Given the description of an element on the screen output the (x, y) to click on. 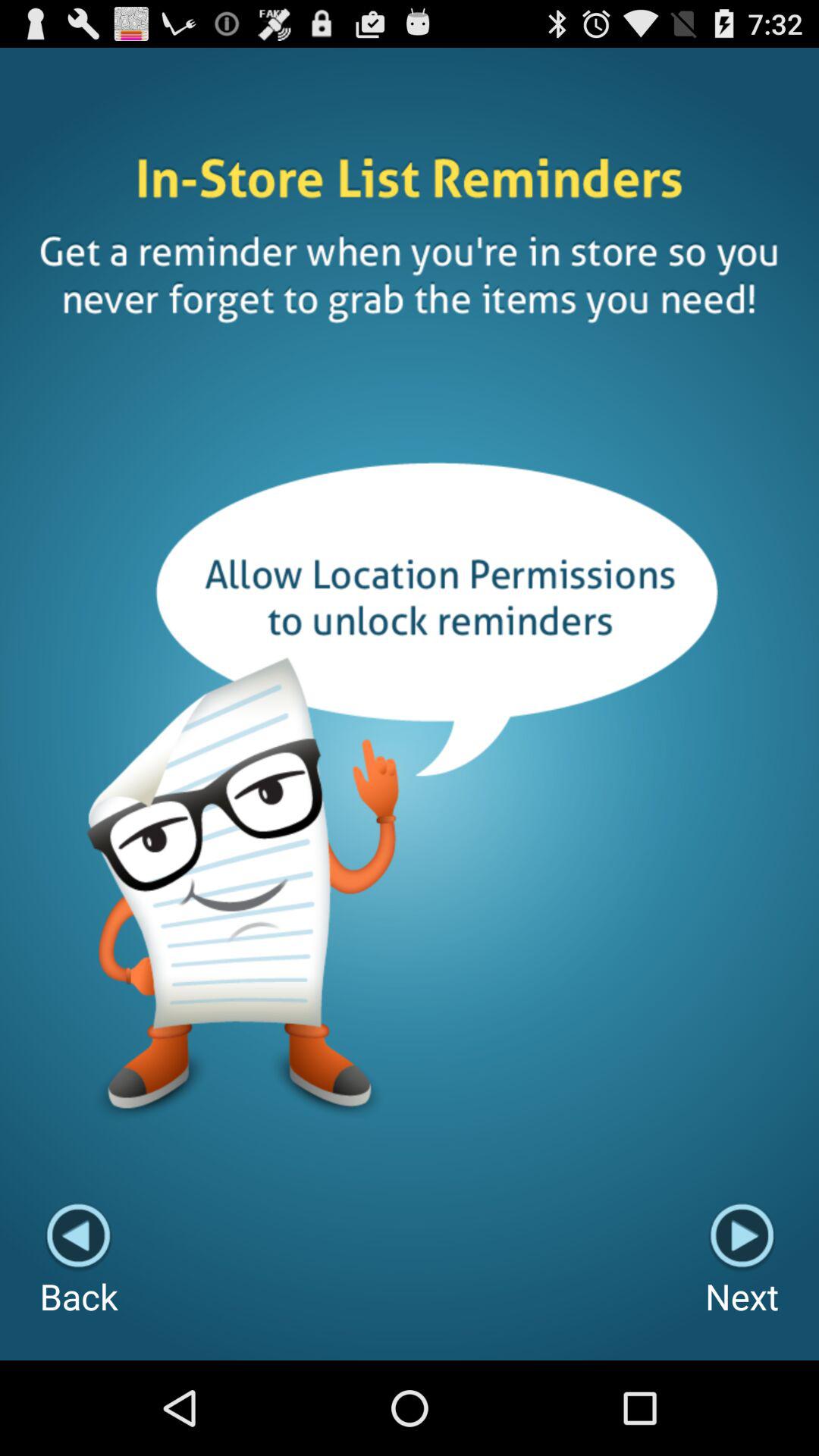
turn off back (79, 1260)
